Given the description of an element on the screen output the (x, y) to click on. 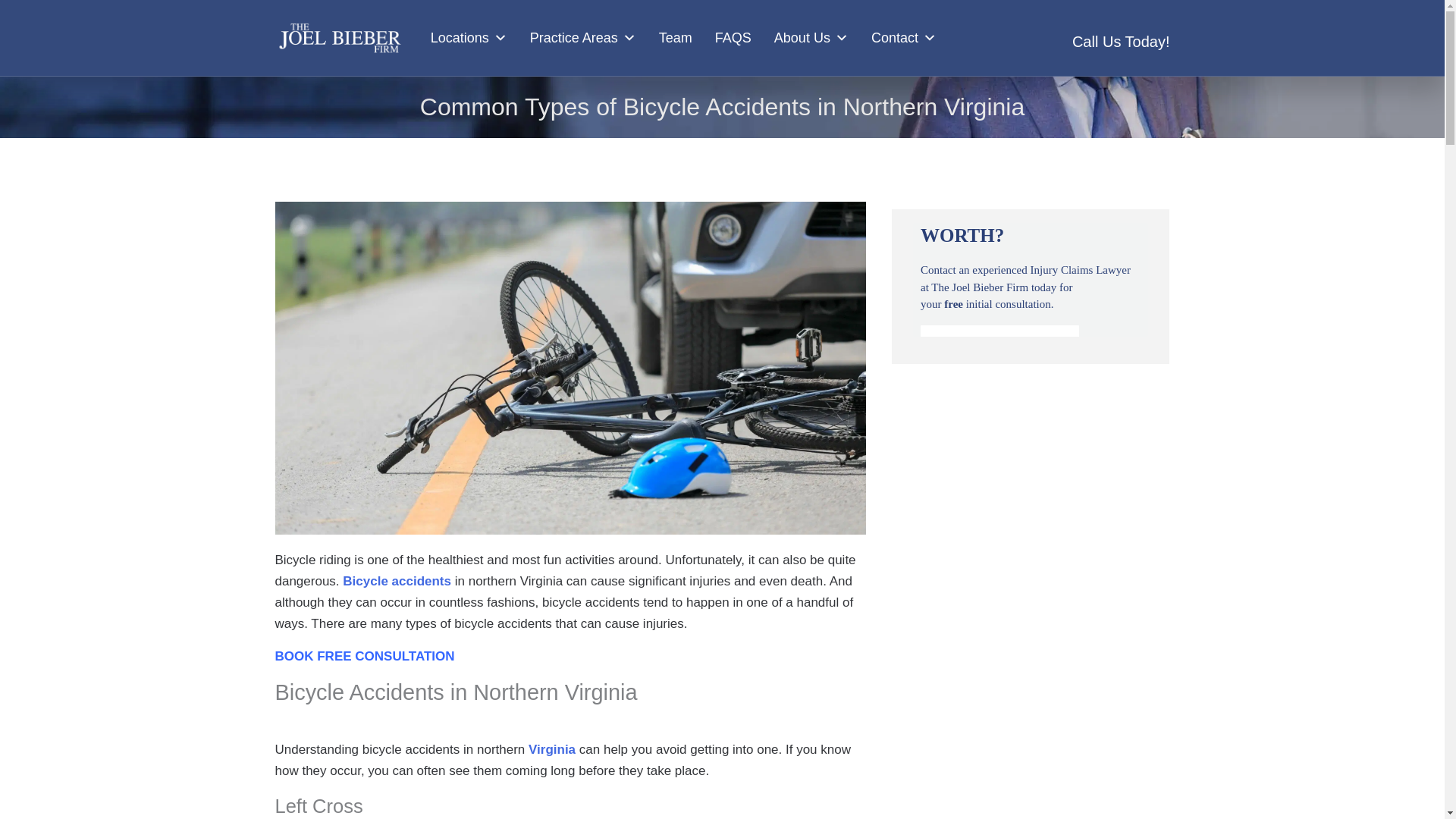
Locations (468, 37)
WHAT IS MY CASE WORTH? side (1030, 279)
Practice Areas (582, 37)
